Given the description of an element on the screen output the (x, y) to click on. 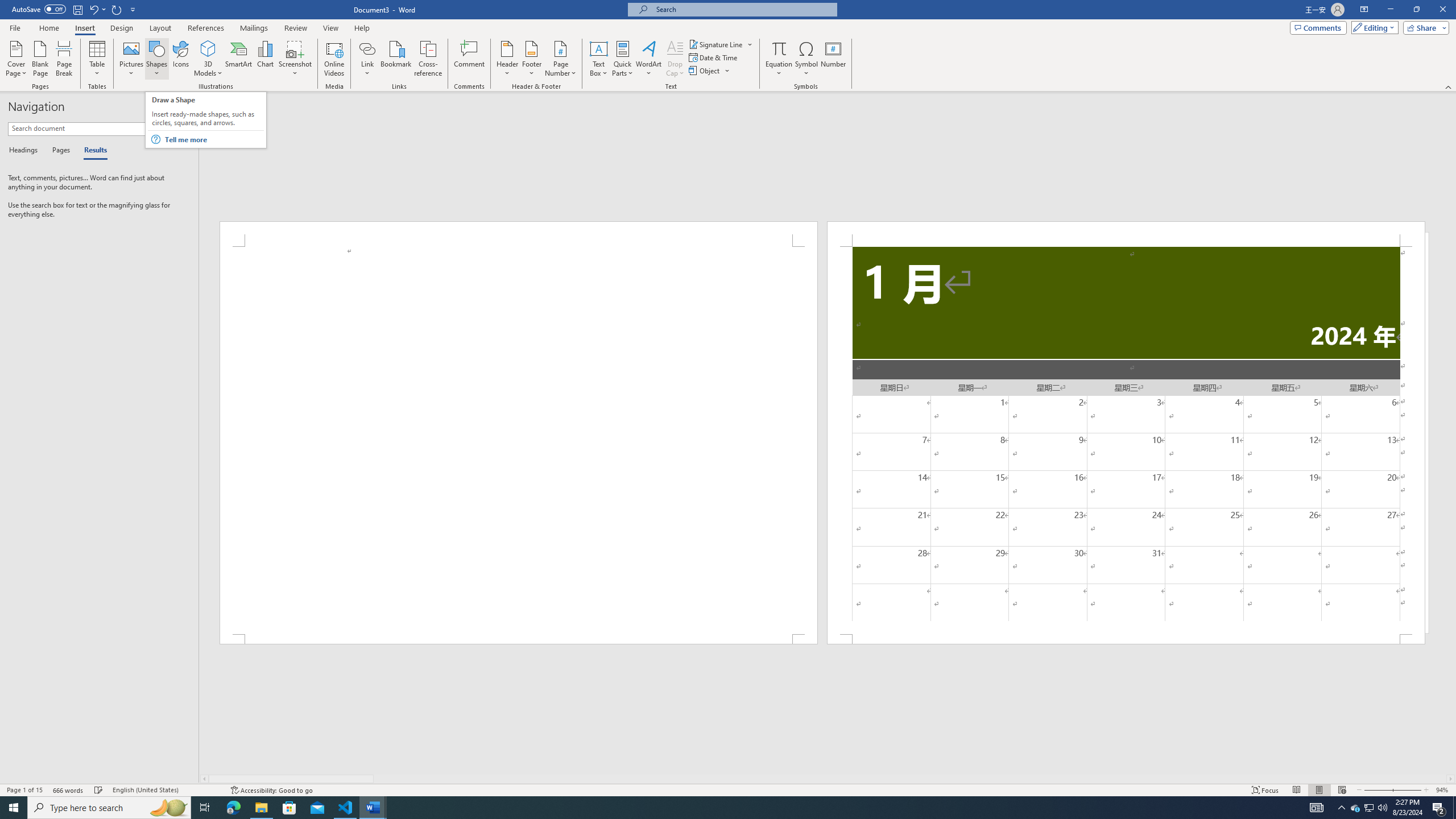
3D Models (208, 58)
Blank Page (40, 58)
Object... (709, 69)
Page 2 content (1126, 439)
Footer (531, 58)
SmartArt... (238, 58)
Quick Parts (622, 58)
